Given the description of an element on the screen output the (x, y) to click on. 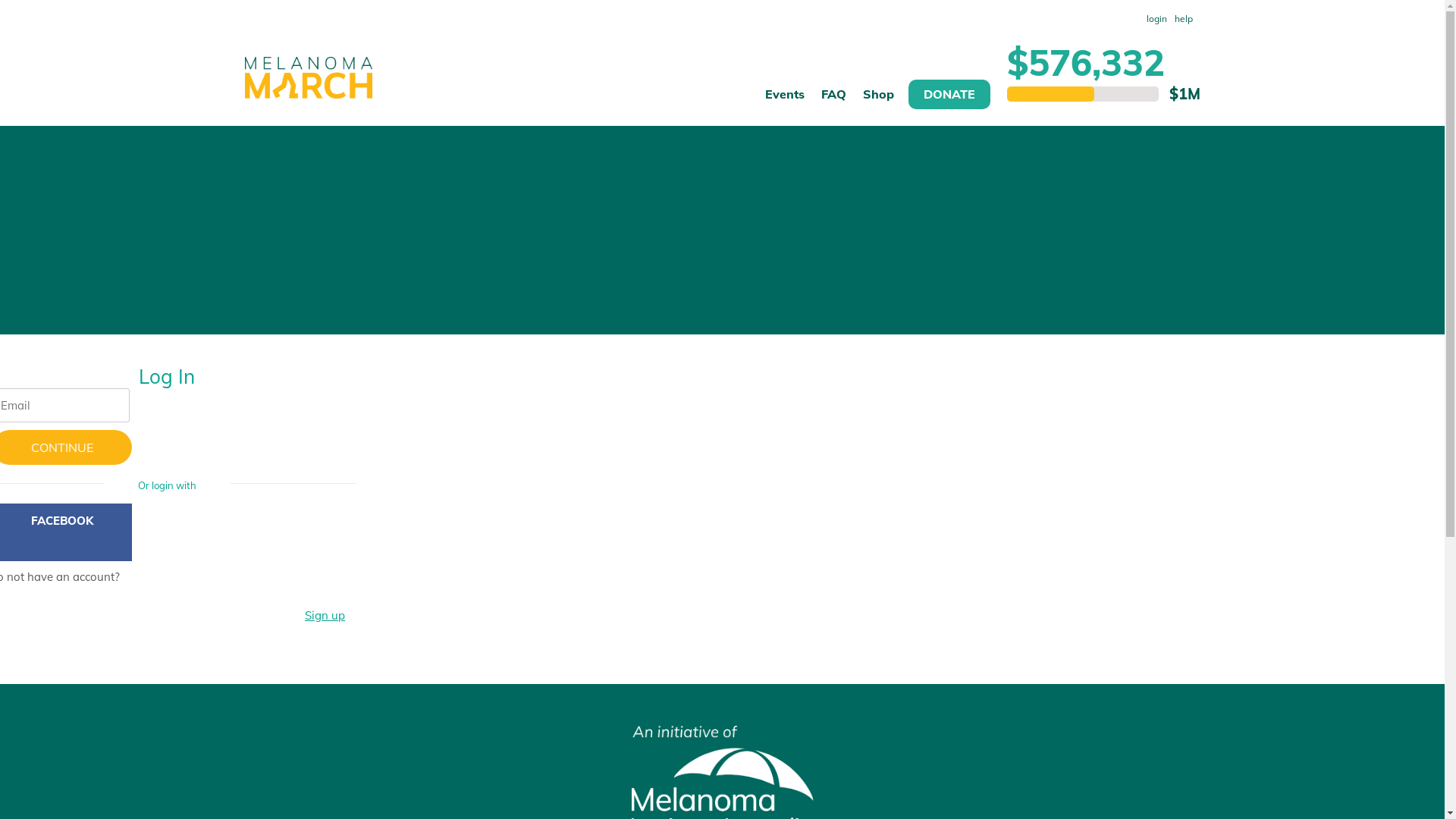
help Element type: text (1183, 18)
FAQ Element type: text (833, 101)
login Element type: text (1156, 18)
DONATE Element type: text (949, 94)
Shop Element type: text (878, 101)
$576,332 Element type: text (1085, 62)
Sign up Element type: text (324, 615)
Events Element type: text (784, 101)
